Given the description of an element on the screen output the (x, y) to click on. 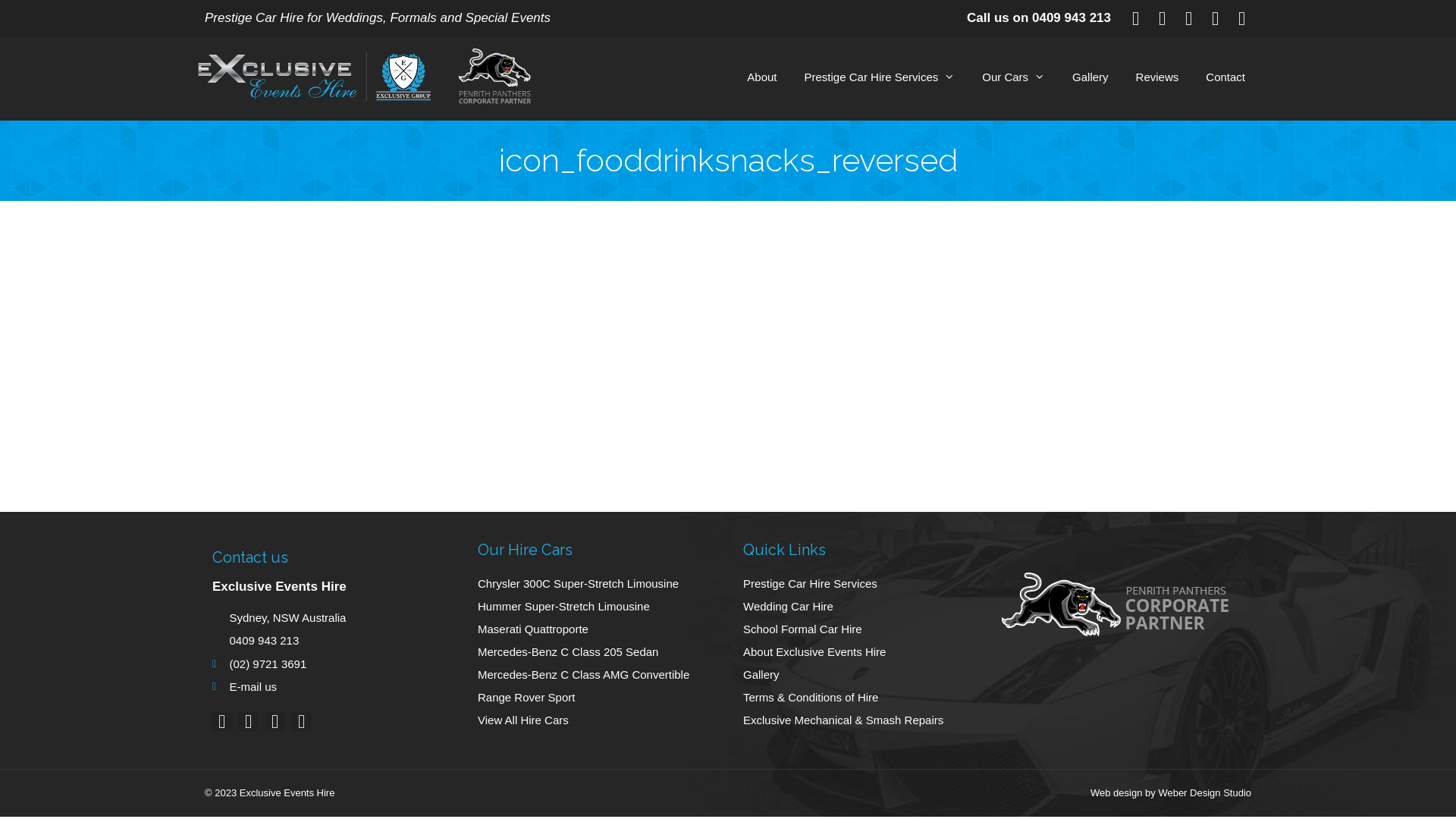
About Element type: text (761, 76)
Contact Element type: text (1225, 76)
Gallery Element type: text (867, 674)
Gallery Element type: text (1090, 76)
Exclusive Mechanical & Smash Repairs Element type: text (867, 720)
Prestige Car Hire Services Element type: text (879, 76)
View All Hire Cars Element type: text (594, 720)
Mercedes-Benz C Class AMG Convertible Element type: text (594, 674)
Maserati Quattroporte Element type: text (594, 629)
School Formal Car Hire Element type: text (867, 629)
Weber Design Studio Element type: text (1204, 792)
Range Rover Sport Element type: text (594, 697)
0409 943 213 Element type: text (1071, 17)
Hummer Super-Stretch Limousine Element type: text (594, 606)
Wedding Car Hire Element type: text (867, 606)
Prestige Car Hire Services Element type: text (867, 583)
Penrith Panthers Corporate Partner Element type: hover (481, 78)
Chrysler 300C Super-Stretch Limousine Element type: text (594, 583)
Reviews Element type: text (1157, 76)
About Exclusive Events Hire Element type: text (867, 651)
Mercedes-Benz C Class 205 Sedan Element type: text (594, 651)
E-mail us Element type: text (329, 686)
Terms & Conditions of Hire Element type: text (867, 697)
Our Cars Element type: text (1013, 76)
